Given the description of an element on the screen output the (x, y) to click on. 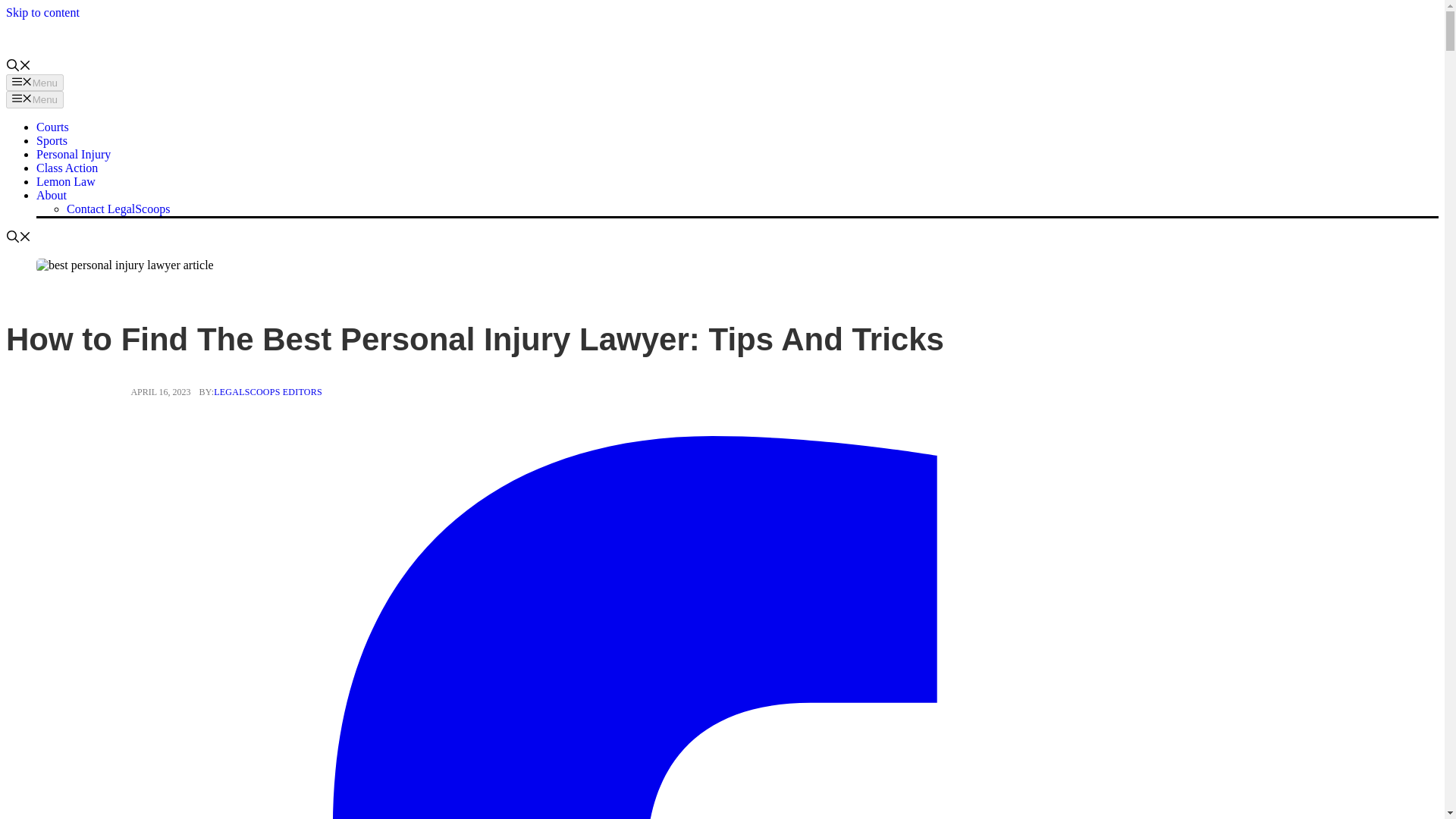
Skip to content (42, 11)
Menu (34, 82)
LegalScoops (46, 38)
Sports (51, 140)
LEGALSCOOPS EDITORS (267, 392)
About (51, 195)
Personal Injury (73, 154)
Skip to content (42, 11)
Class Action (66, 167)
Courts (52, 126)
